Given the description of an element on the screen output the (x, y) to click on. 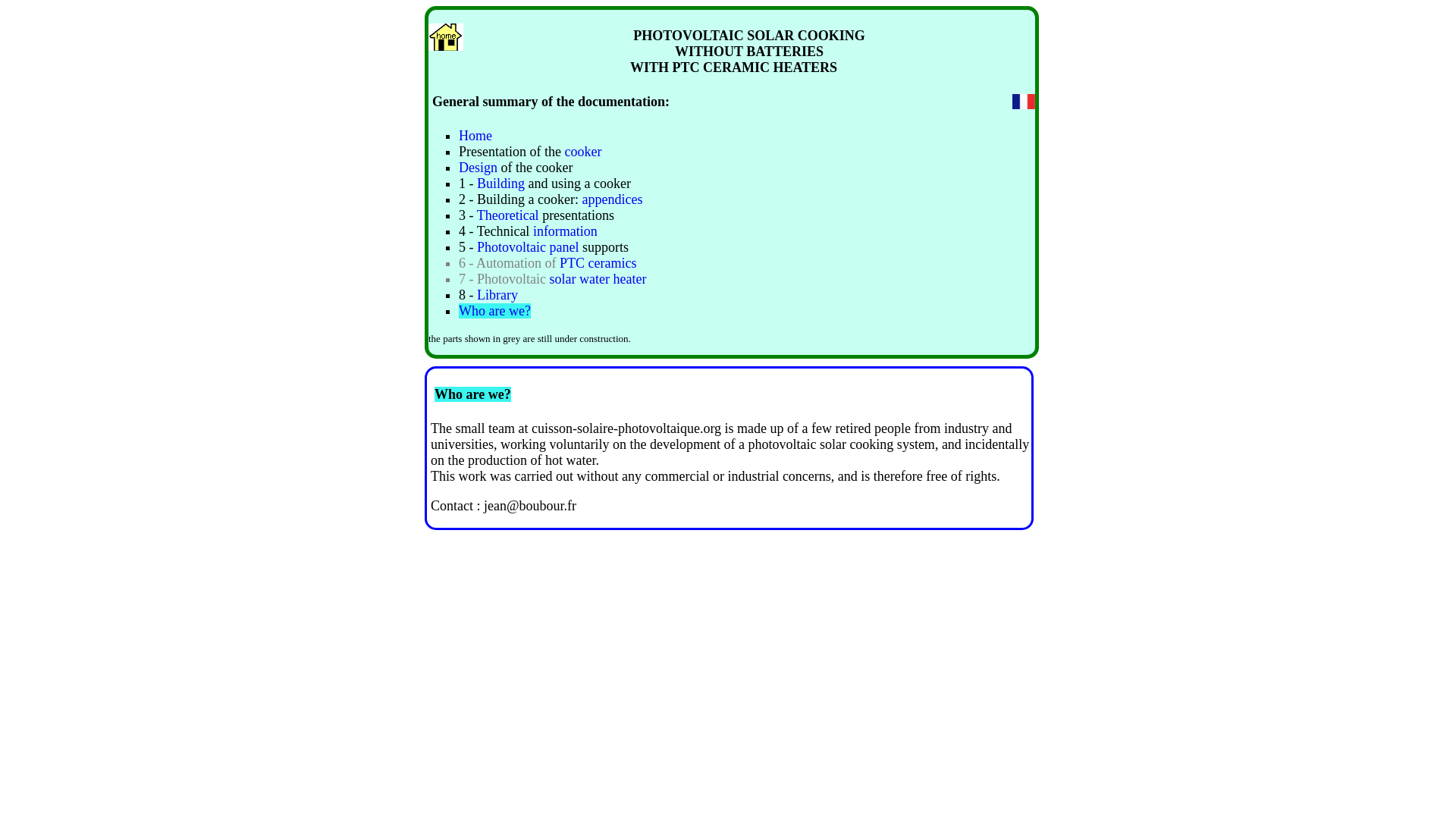
appendices (611, 199)
Home (475, 135)
solar water heater (597, 278)
Building (502, 183)
Design (479, 167)
Library (497, 294)
cooker (580, 151)
Theoretical (507, 215)
Who are we? (494, 310)
information (564, 231)
